Given the description of an element on the screen output the (x, y) to click on. 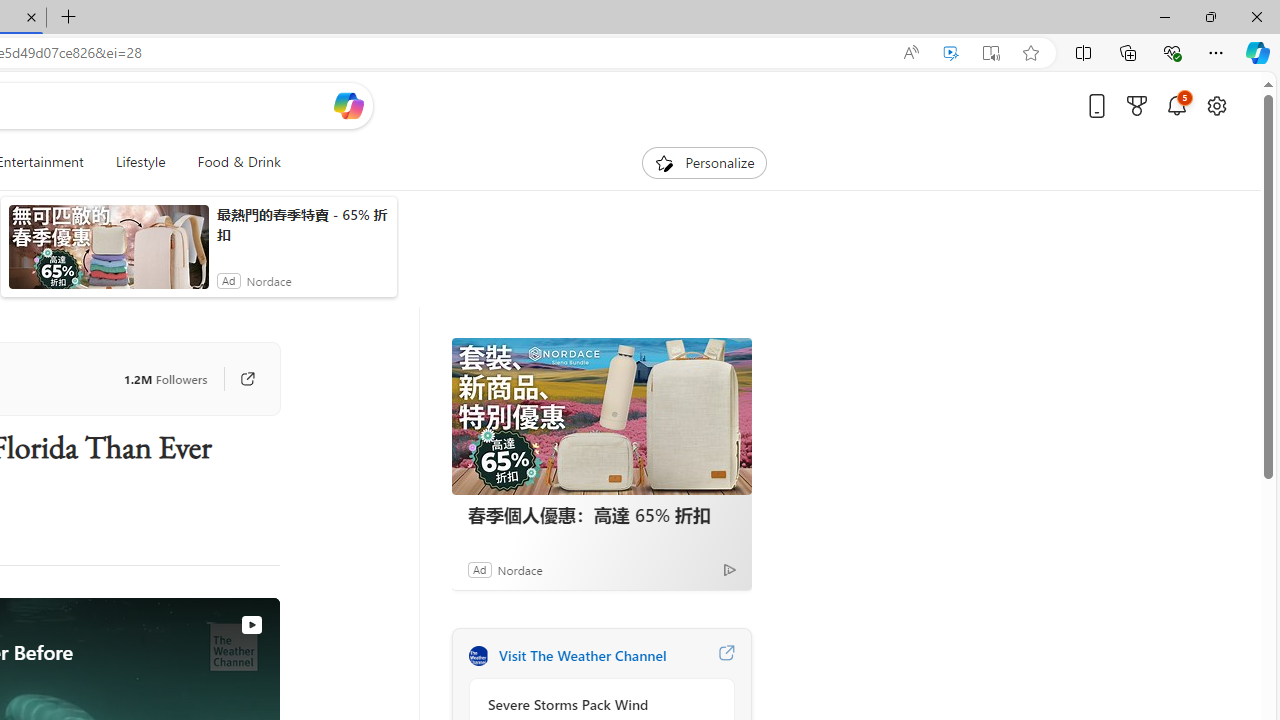
The Weather Channel (478, 655)
Enter Immersive Reader (F9) (991, 53)
Open Copilot (347, 105)
